Given the description of an element on the screen output the (x, y) to click on. 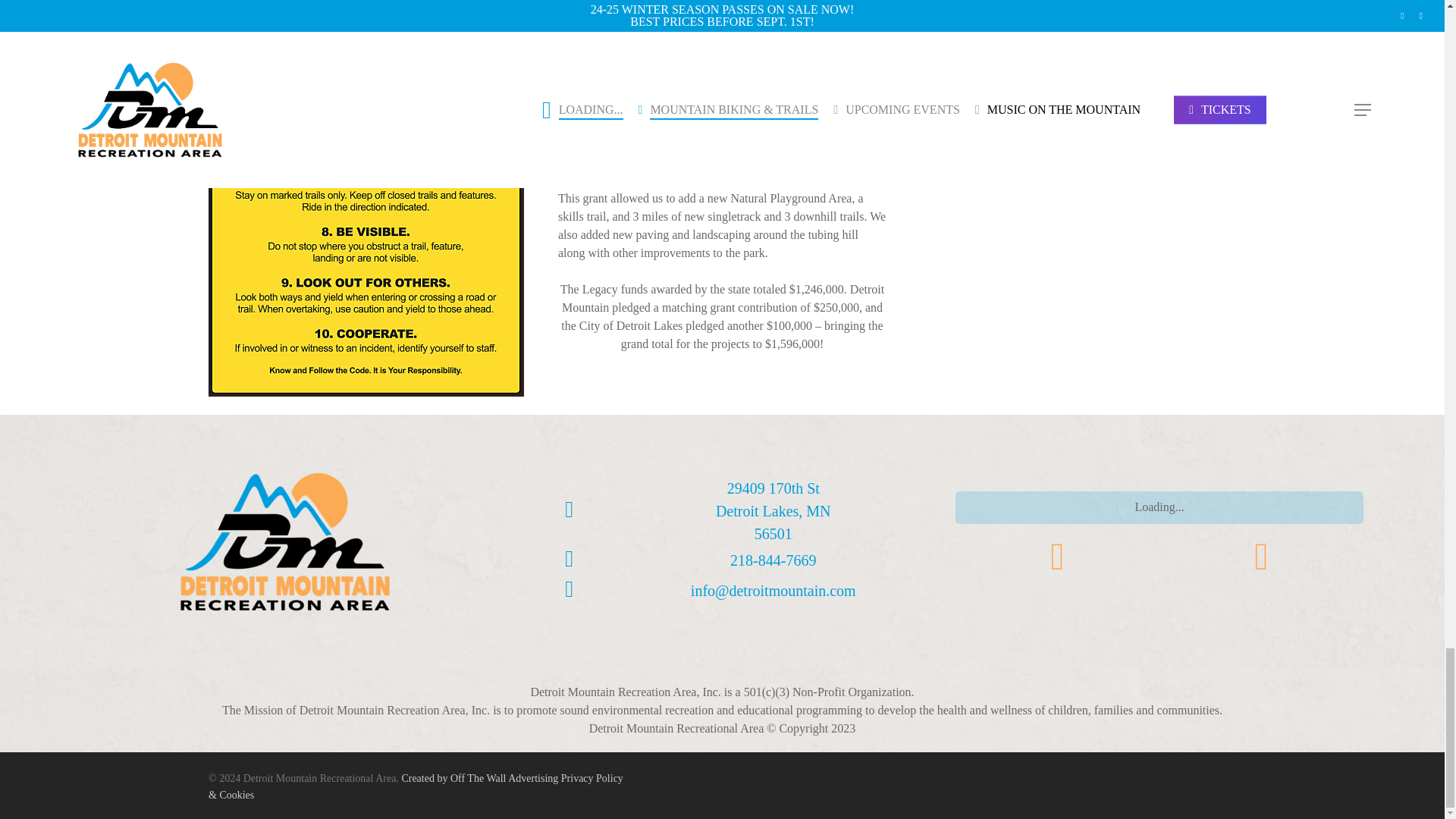
218-844-7669 (772, 560)
Detroit Lakes, MN (773, 510)
Created by Off The Wall Advertising (479, 778)
56501 (773, 533)
29409 170th St (772, 487)
NSAA Mountain Biker's Responsibility Code (1071, 87)
